Given the description of an element on the screen output the (x, y) to click on. 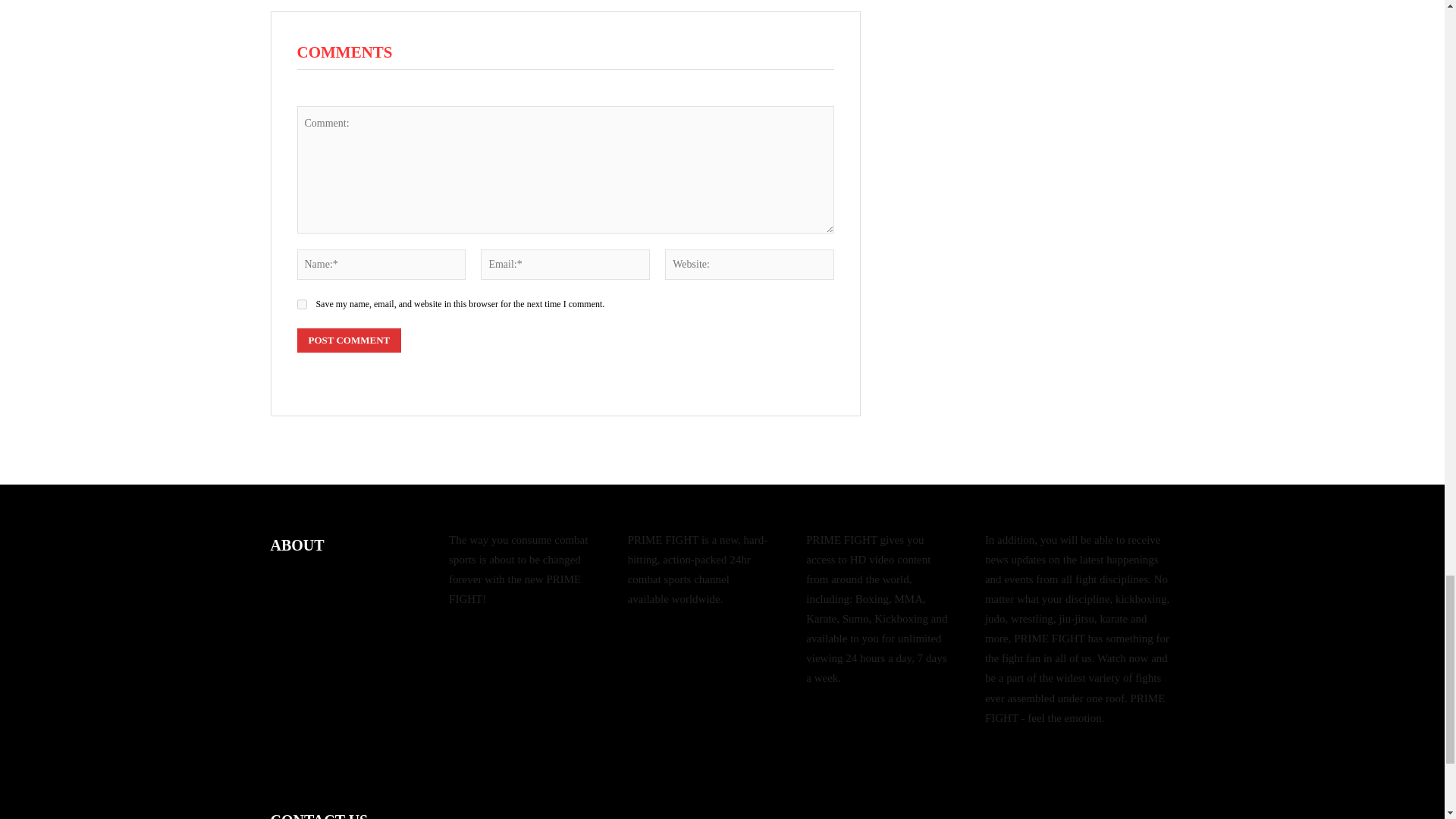
yes (302, 304)
Post Comment (349, 340)
